Given the description of an element on the screen output the (x, y) to click on. 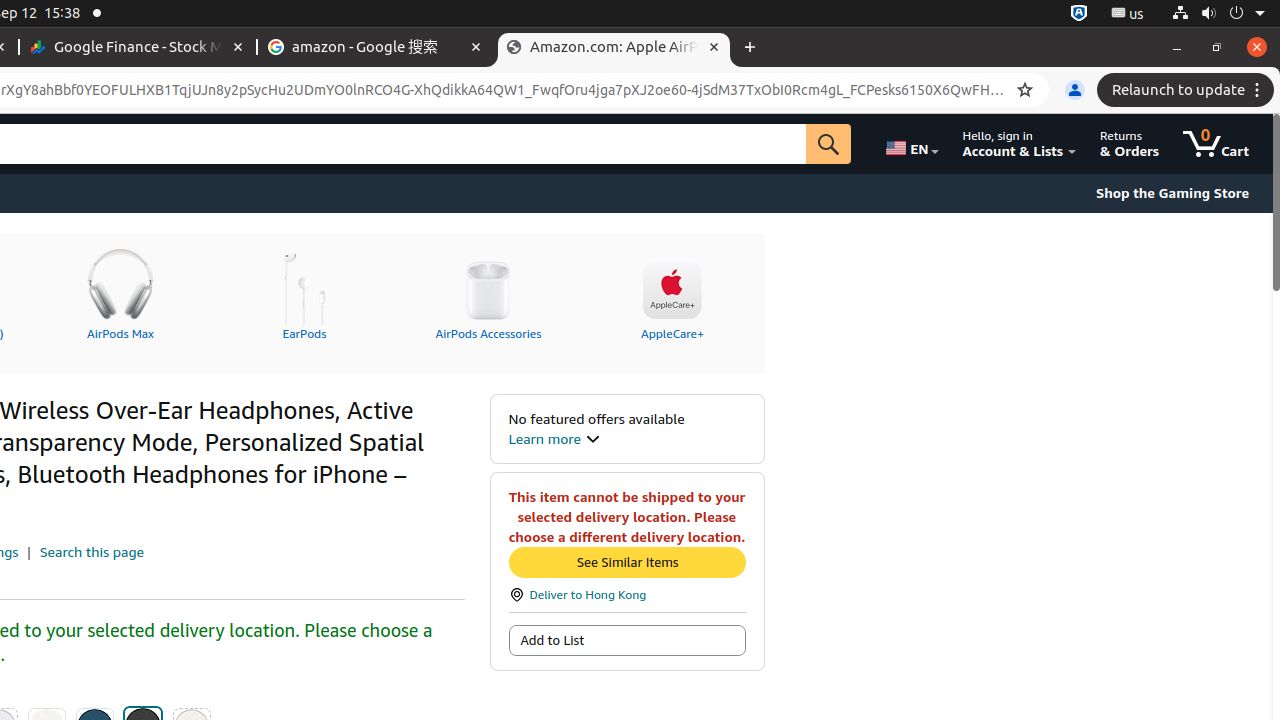
Amazon.com: Apple AirPods Max Wireless Over-Ear Headphones, Active Noise Cancelling, Transparency Mode, Personalized Spatial Audio, Dolby Atmos, Bluetooth Headphones for iPhone – Space Gray : Electronics Element type: page-tab (614, 47)
System Element type: menu (1218, 13)
Shop the Gaming Store Element type: link (1172, 193)
Go Element type: push-button (829, 144)
0 items in cart Element type: link (1216, 144)
